Given the description of an element on the screen output the (x, y) to click on. 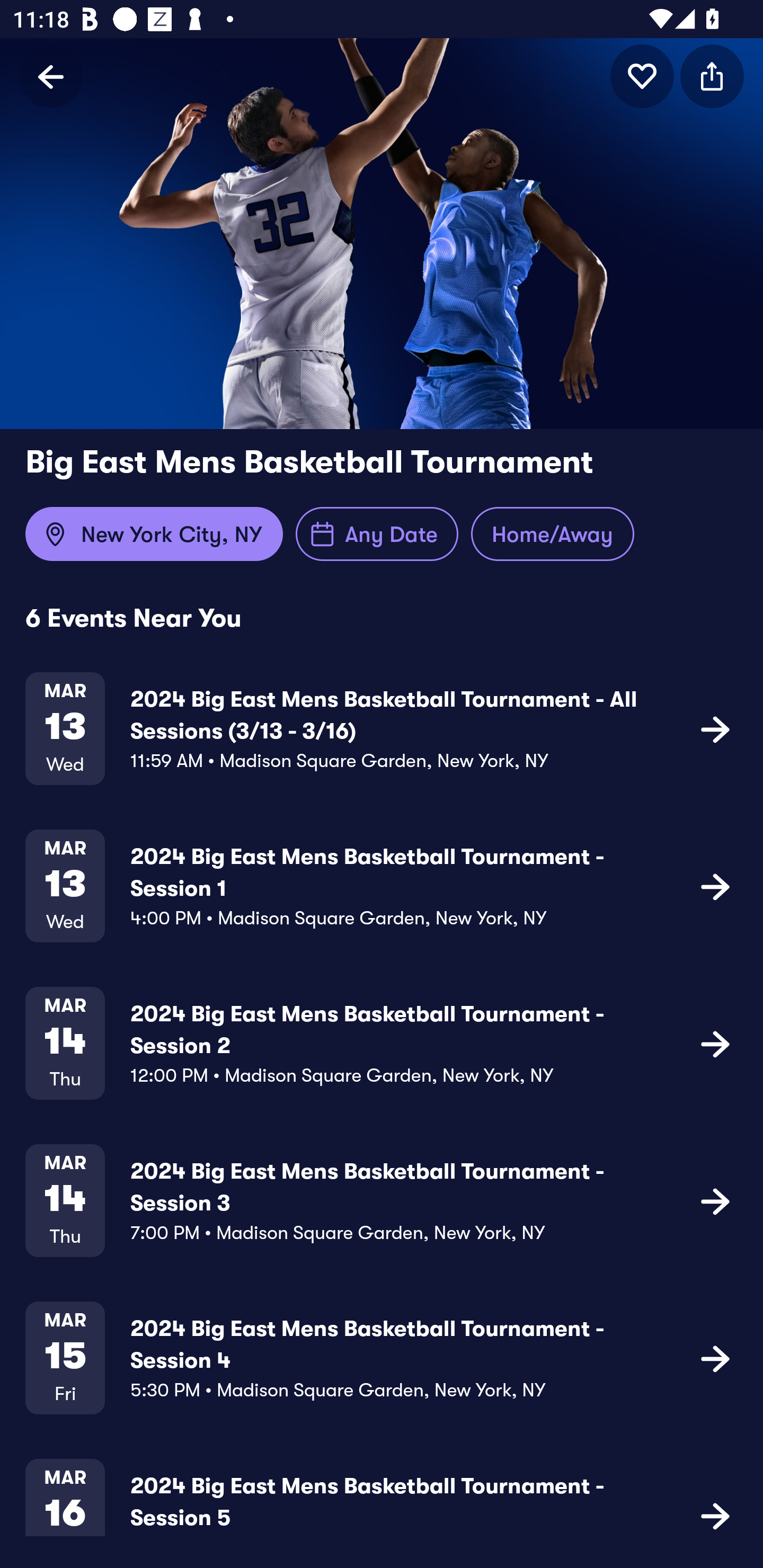
Back (50, 75)
icon button (641, 75)
icon button (711, 75)
New York City, NY (153, 533)
Any Date (377, 533)
Home/Away (552, 533)
icon button (714, 729)
icon button (714, 885)
icon button (714, 1043)
icon button (714, 1201)
icon button (714, 1357)
icon button (714, 1514)
